Given the description of an element on the screen output the (x, y) to click on. 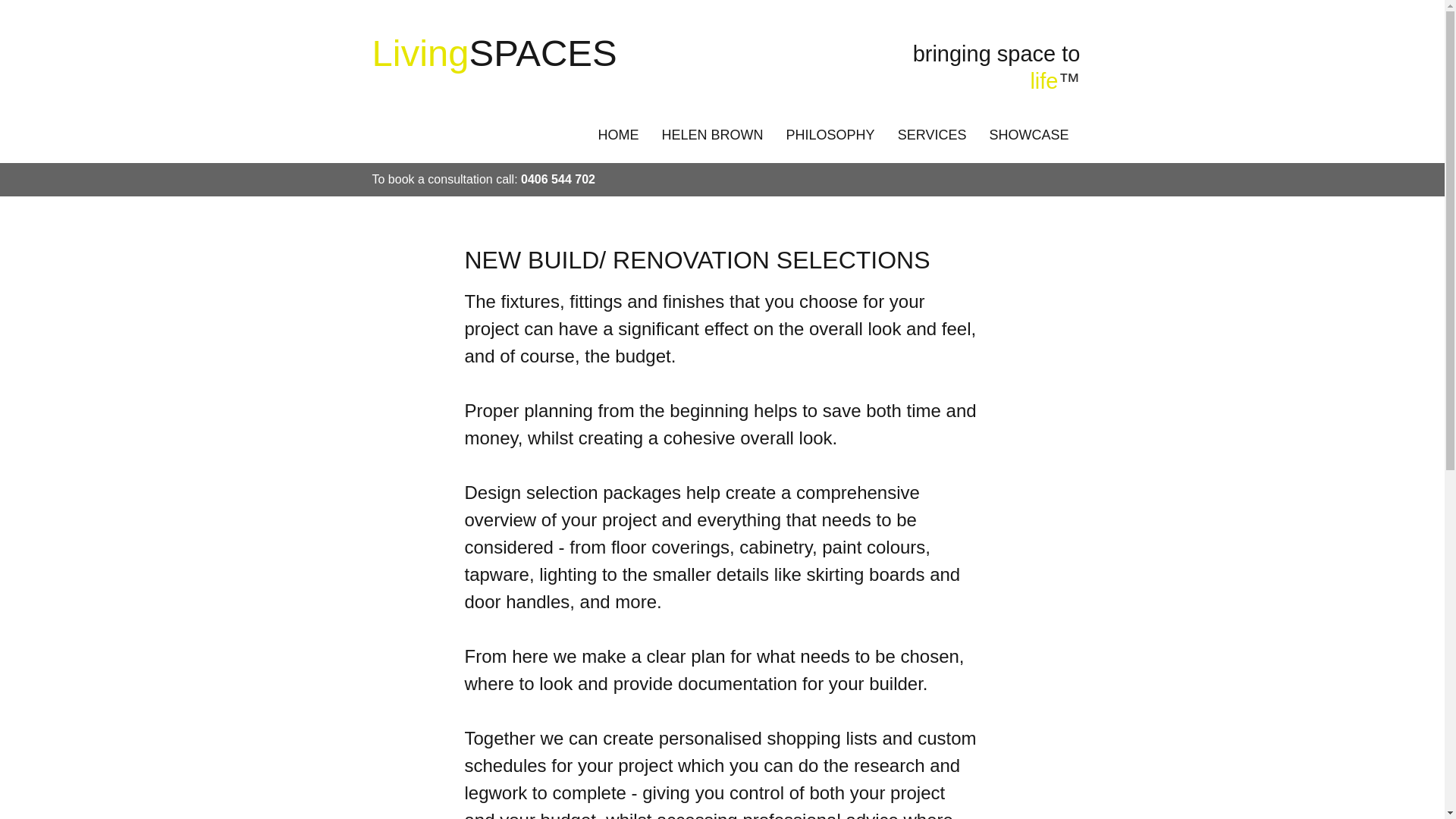
SHOWCASE Element type: text (1029, 133)
HOME Element type: text (618, 133)
SERVICES Element type: text (931, 133)
HELEN BROWN Element type: text (712, 133)
LivingSPACES Element type: text (493, 52)
PHILOSOPHY Element type: text (830, 133)
